Given the description of an element on the screen output the (x, y) to click on. 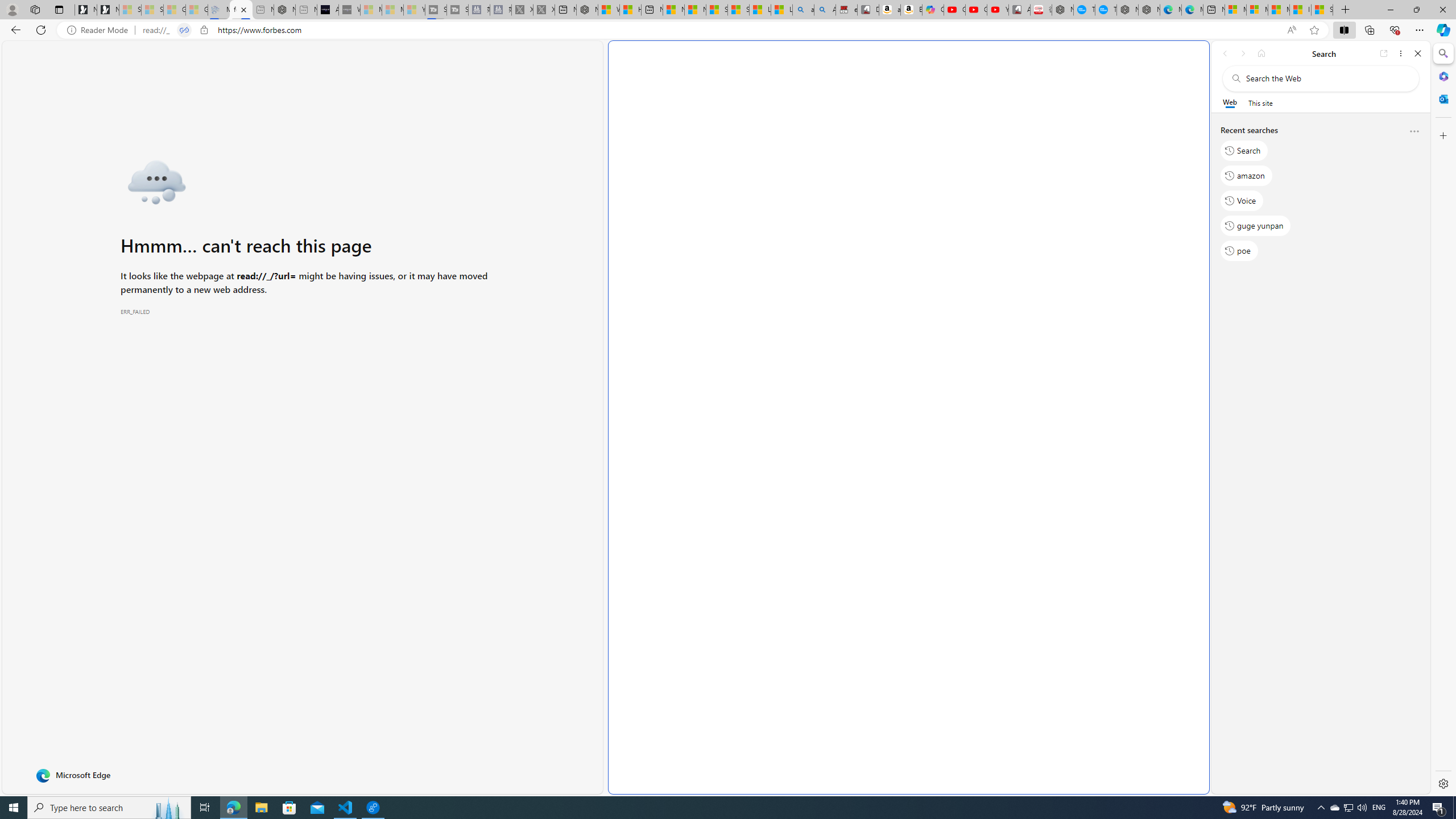
Outlook (1442, 98)
Microsoft Start Sports - Sleeping (371, 9)
Side bar (1443, 418)
All Cubot phones (1019, 9)
Customize (1442, 135)
